Given the description of an element on the screen output the (x, y) to click on. 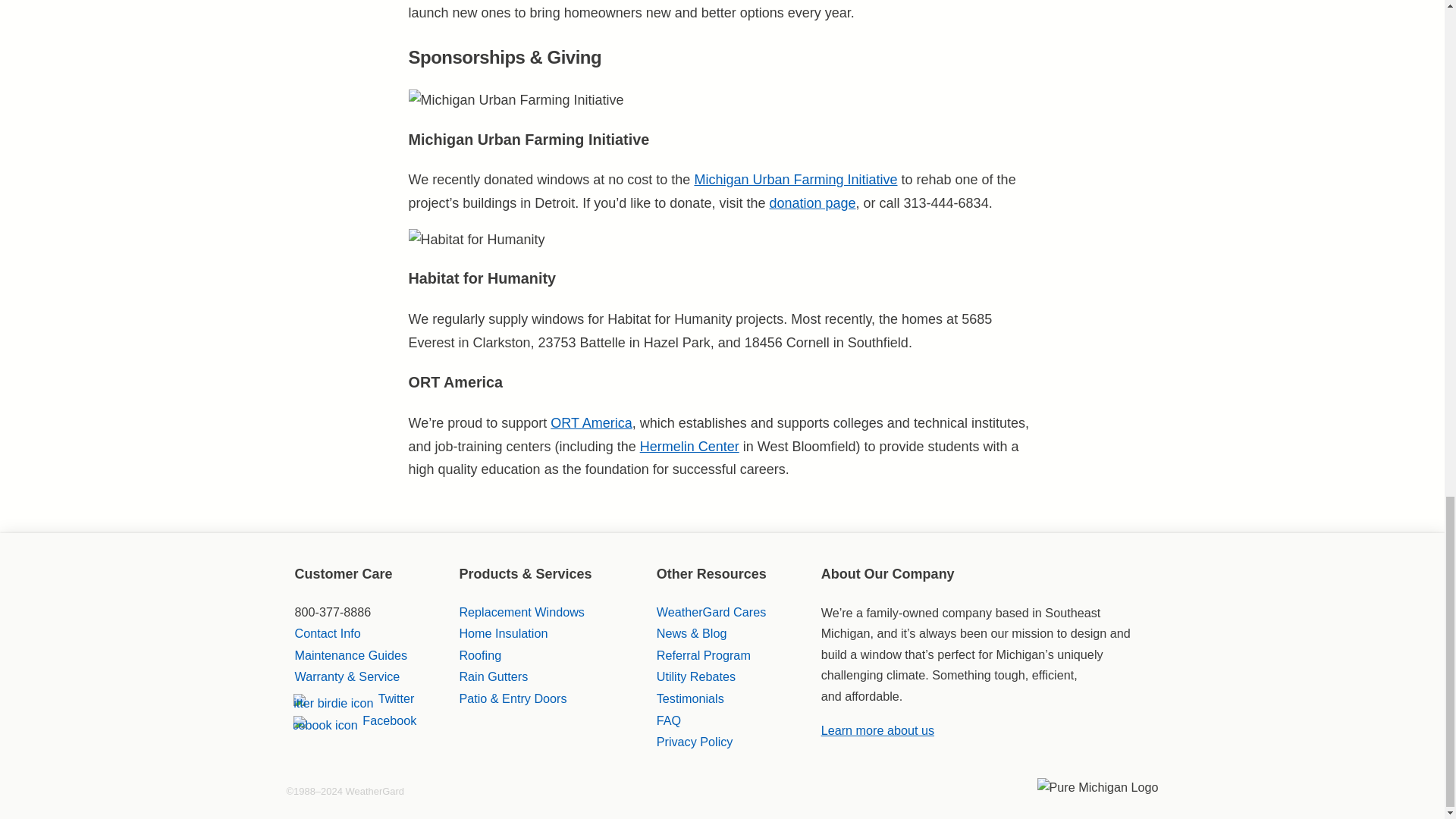
donation page (812, 202)
Privacy Policy (694, 741)
WeatherGard Cares (711, 612)
Referral Program (703, 654)
Testimonials (689, 698)
Maintenance Guides (350, 654)
Learn more about us (877, 730)
Twitter (353, 698)
Utility Rebates (695, 676)
Home Insulation (502, 632)
